Given the description of an element on the screen output the (x, y) to click on. 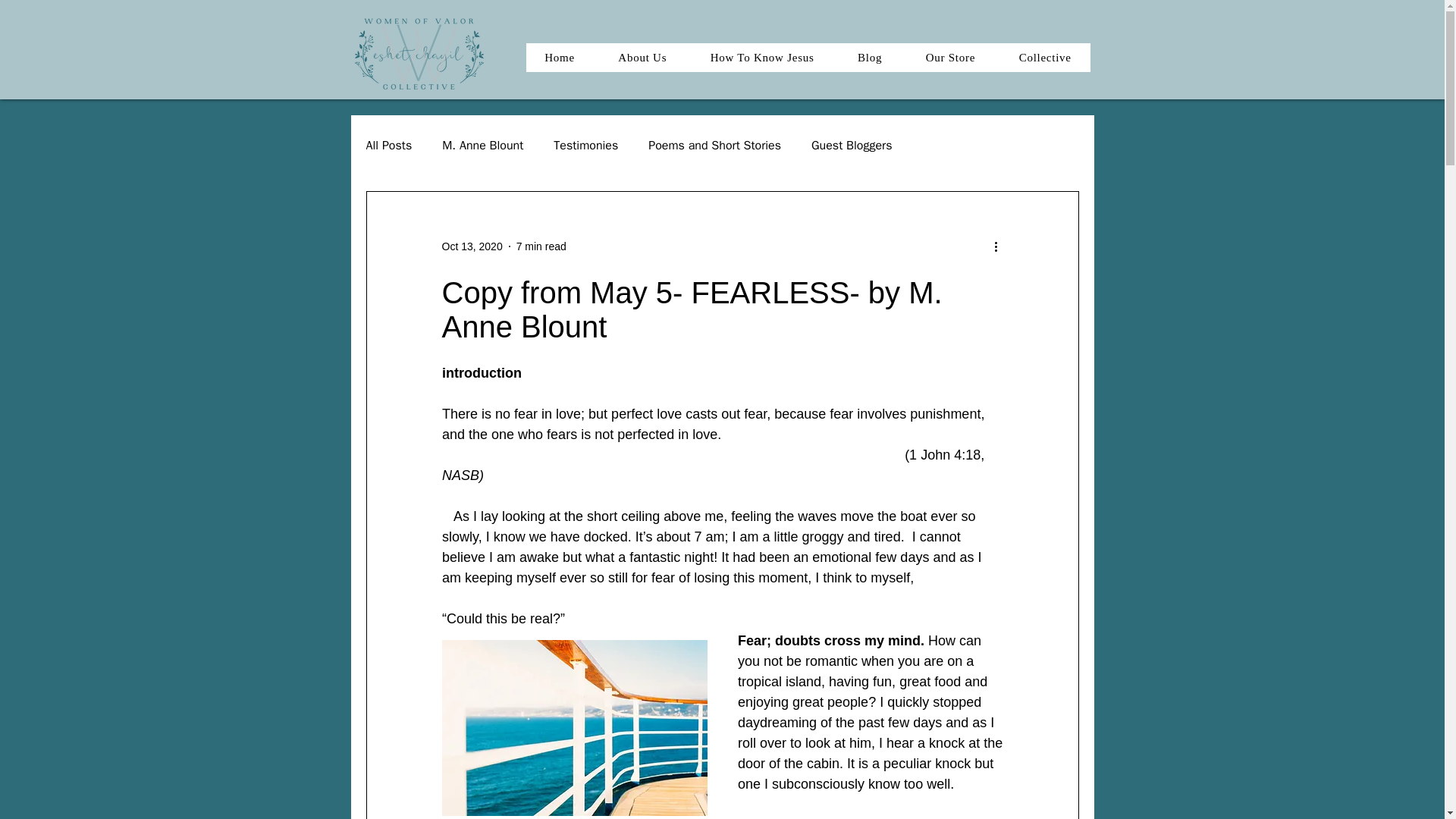
Oct 13, 2020 (471, 245)
All Posts (388, 145)
Testimonies (585, 145)
Our Store (950, 57)
Collective (1045, 57)
7 min read (541, 245)
M. Anne Blount (807, 57)
About Us (482, 145)
Blog (642, 57)
